Given the description of an element on the screen output the (x, y) to click on. 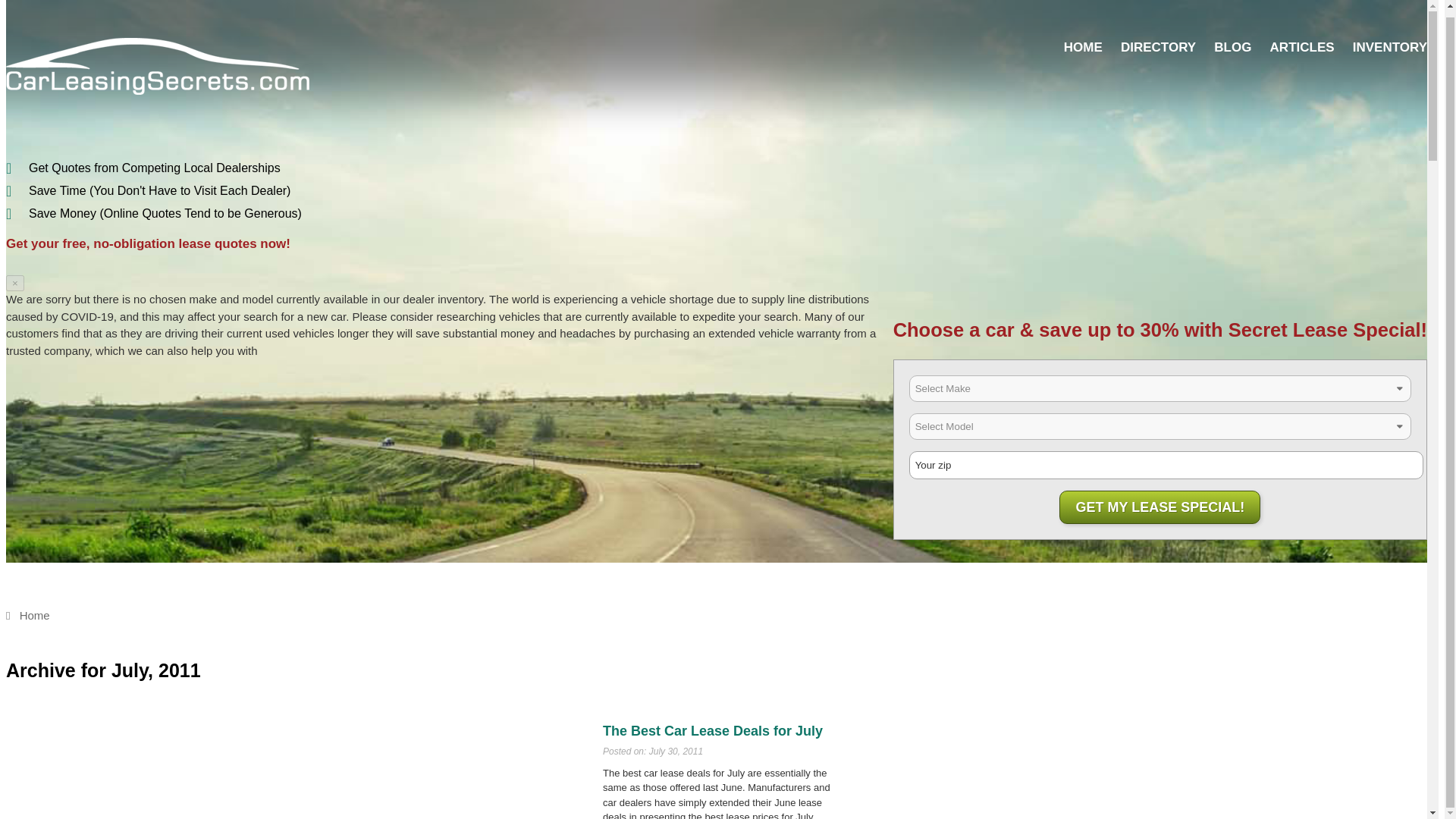
Home (27, 615)
HOME (1083, 47)
Get My Lease Special! (1159, 507)
The Best Car Lease Deals for July (712, 730)
DIRECTORY (1158, 47)
Permanent Link to The Best Car Lease Deals for July (712, 730)
ARTICLES (1302, 47)
Get your free, no-obligation lease quotes now! (147, 243)
BLOG (1232, 47)
Get My Lease Special! (1159, 507)
